Given the description of an element on the screen output the (x, y) to click on. 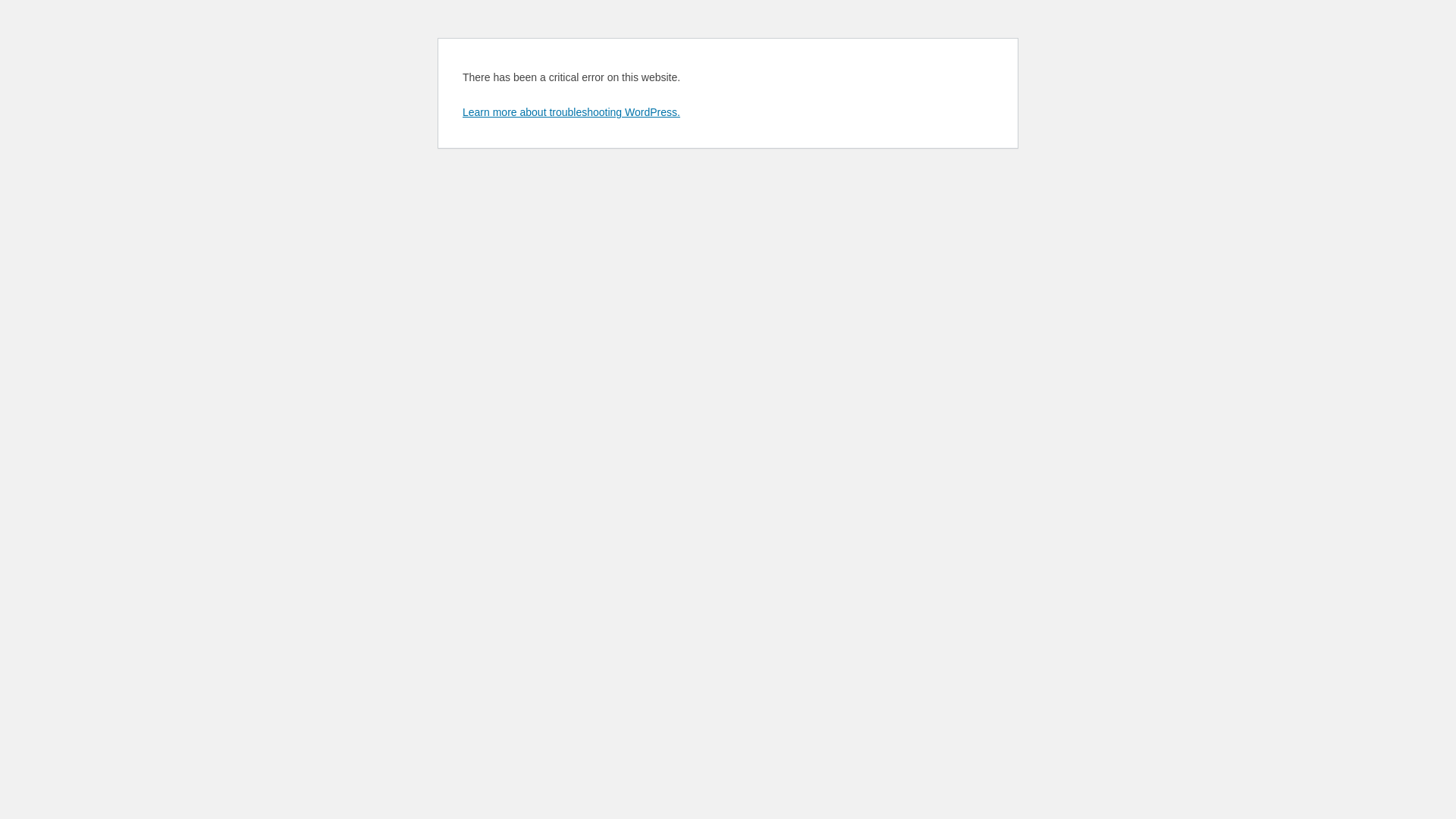
Learn more about troubleshooting WordPress. Element type: text (571, 112)
